Given the description of an element on the screen output the (x, y) to click on. 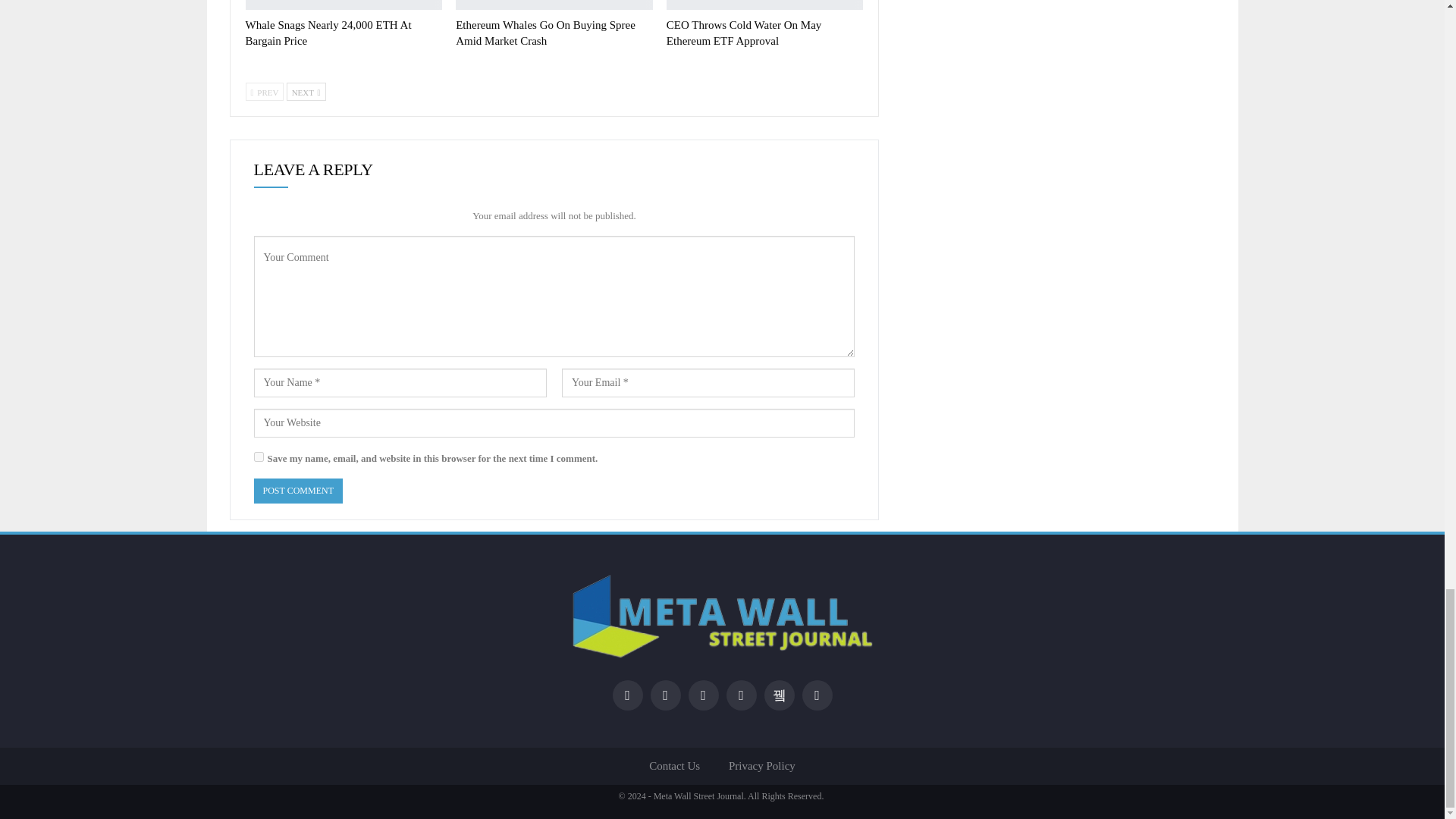
Ethereum Whales Go On Buying Spree Amid Market Crash (553, 4)
Whale Snags Nearly 24,000 ETH At Bargain Price (329, 32)
Post Comment (297, 490)
CEO Throws Cold Water On May Ethereum ETF Approval (764, 4)
Ethereum Whales Go On Buying Spree Amid Market Crash (544, 32)
Whale Snags Nearly 24,000 ETH At Bargain Price (344, 4)
CEO Throws Cold Water On May Ethereum ETF Approval (743, 32)
yes (258, 456)
